Given the description of an element on the screen output the (x, y) to click on. 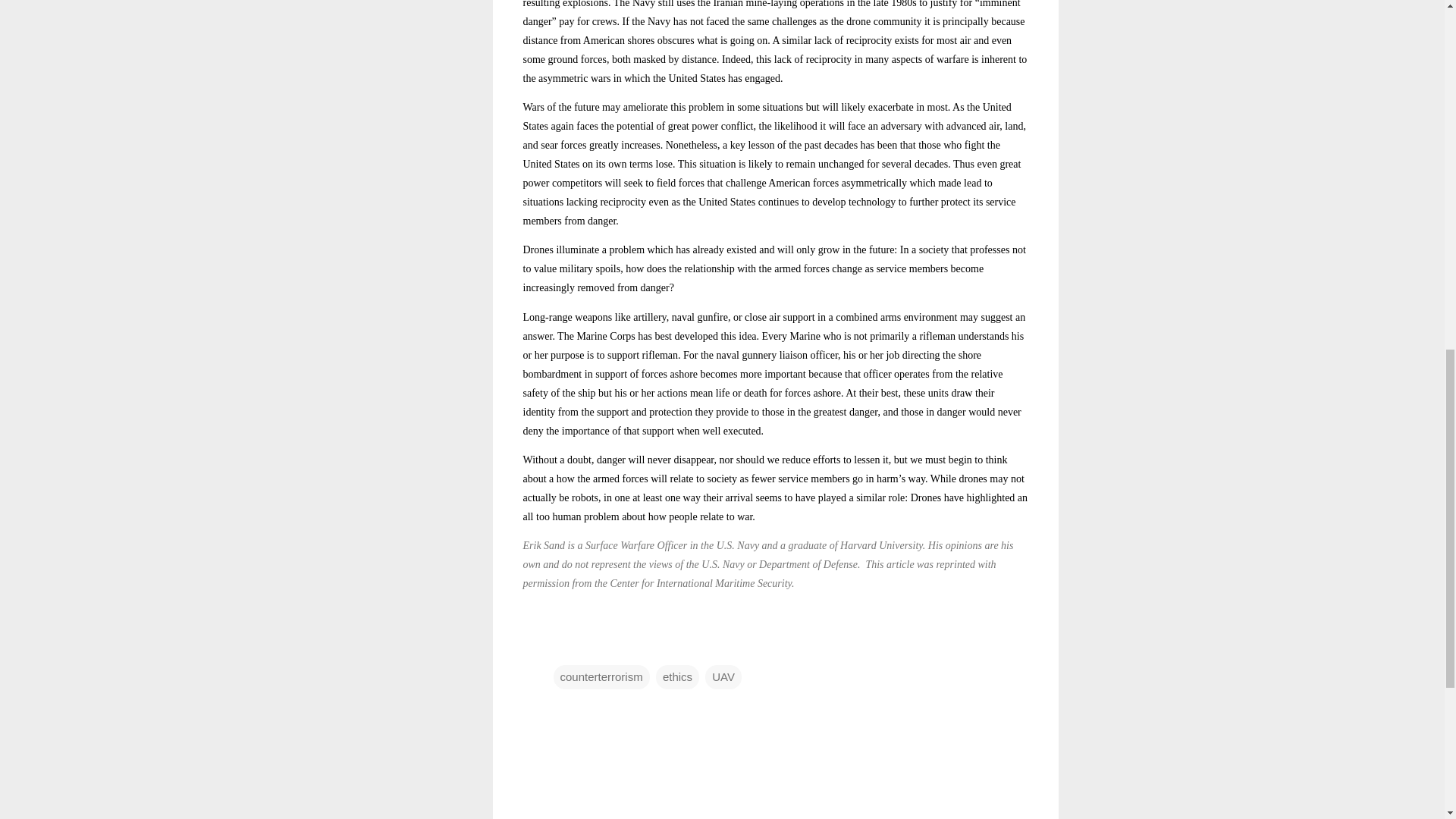
UAV (722, 677)
Email Post (562, 645)
ethics (677, 677)
counterterrorism (601, 677)
